Given the description of an element on the screen output the (x, y) to click on. 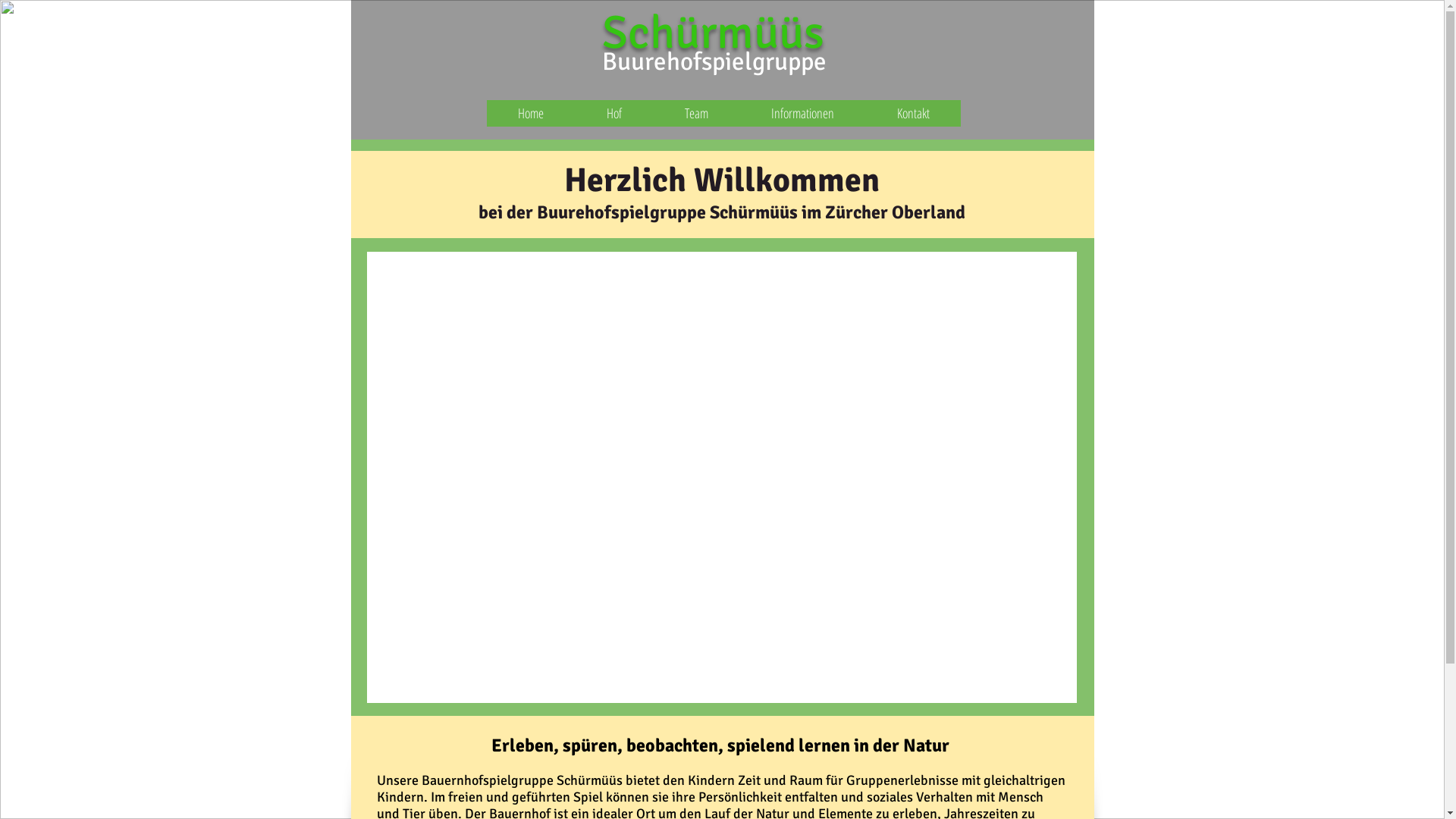
Informationen Element type: text (803, 113)
Home Element type: text (530, 113)
Kontakt Element type: text (913, 113)
Hof Element type: text (613, 113)
Buurehofspielgruppe Element type: text (714, 61)
Team Element type: text (696, 113)
